Given the description of an element on the screen output the (x, y) to click on. 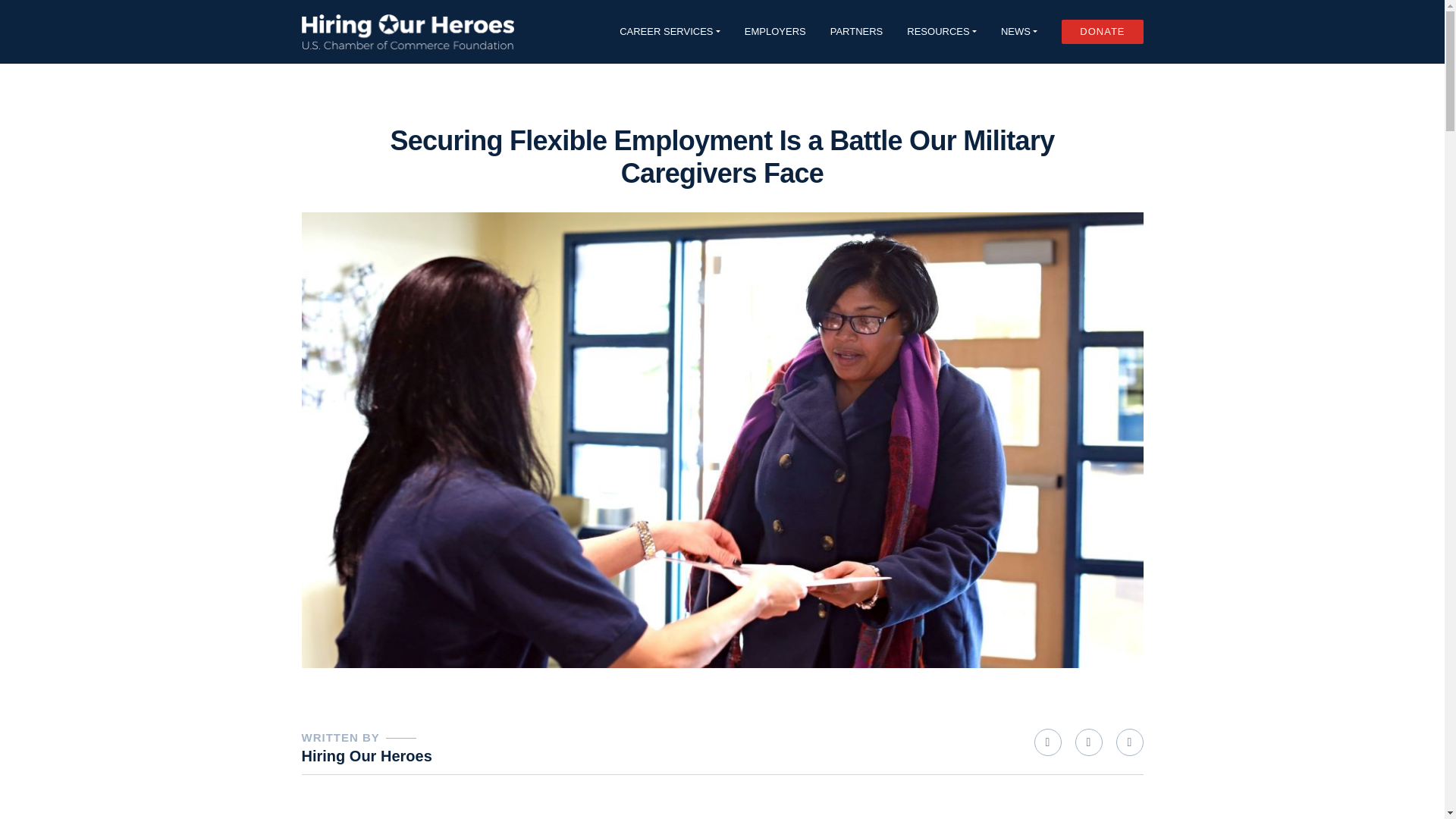
DONATE (1101, 31)
CAREER SERVICES (670, 31)
PARTNERS (856, 31)
EMPLOYERS (775, 31)
RESOURCES (941, 31)
